Given the description of an element on the screen output the (x, y) to click on. 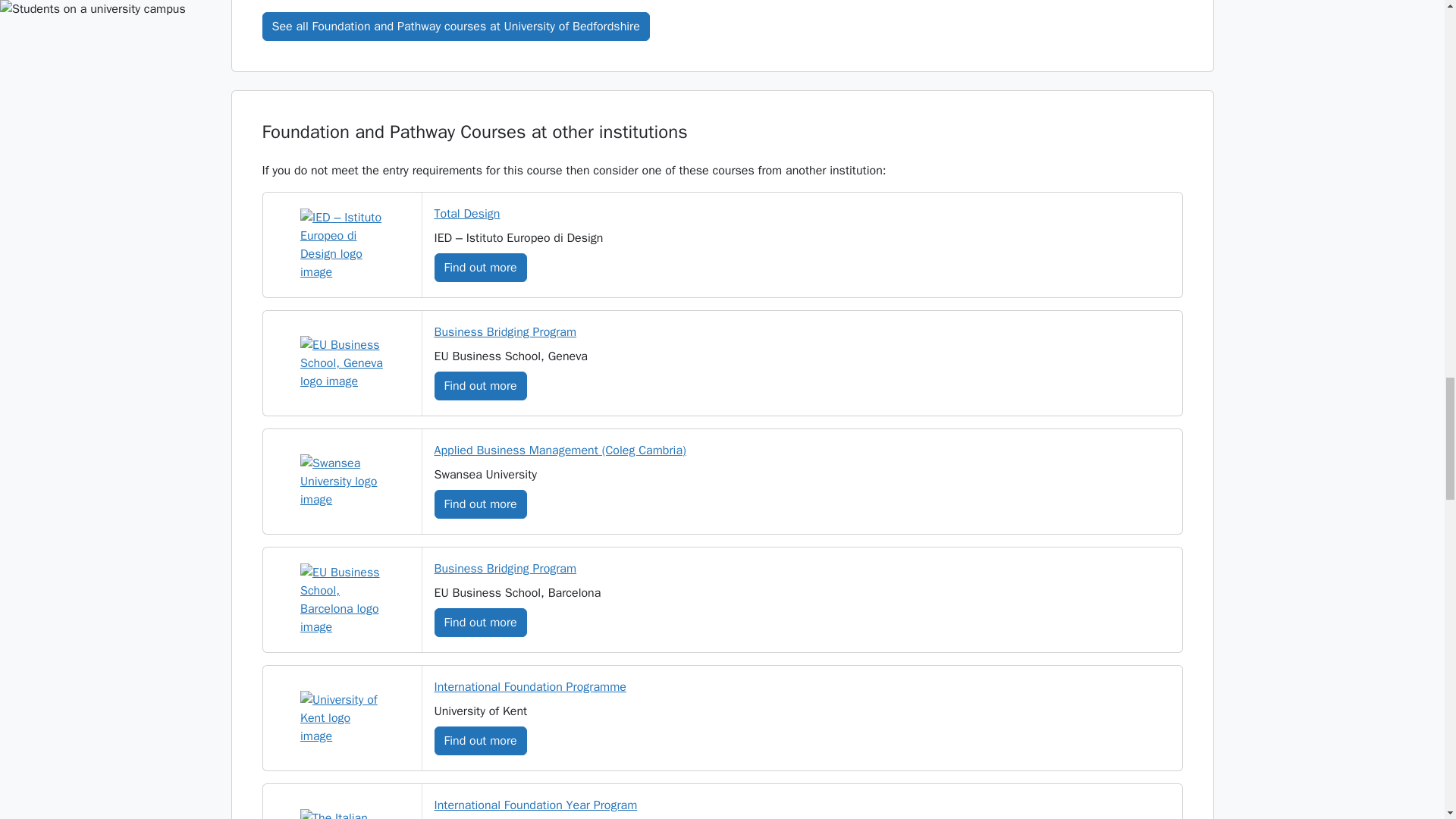
EU Business School, Geneva (341, 362)
University of Kent (341, 718)
Swansea University (341, 481)
EU Business School, Barcelona (341, 599)
The Italian Academy (341, 814)
